Given the description of an element on the screen output the (x, y) to click on. 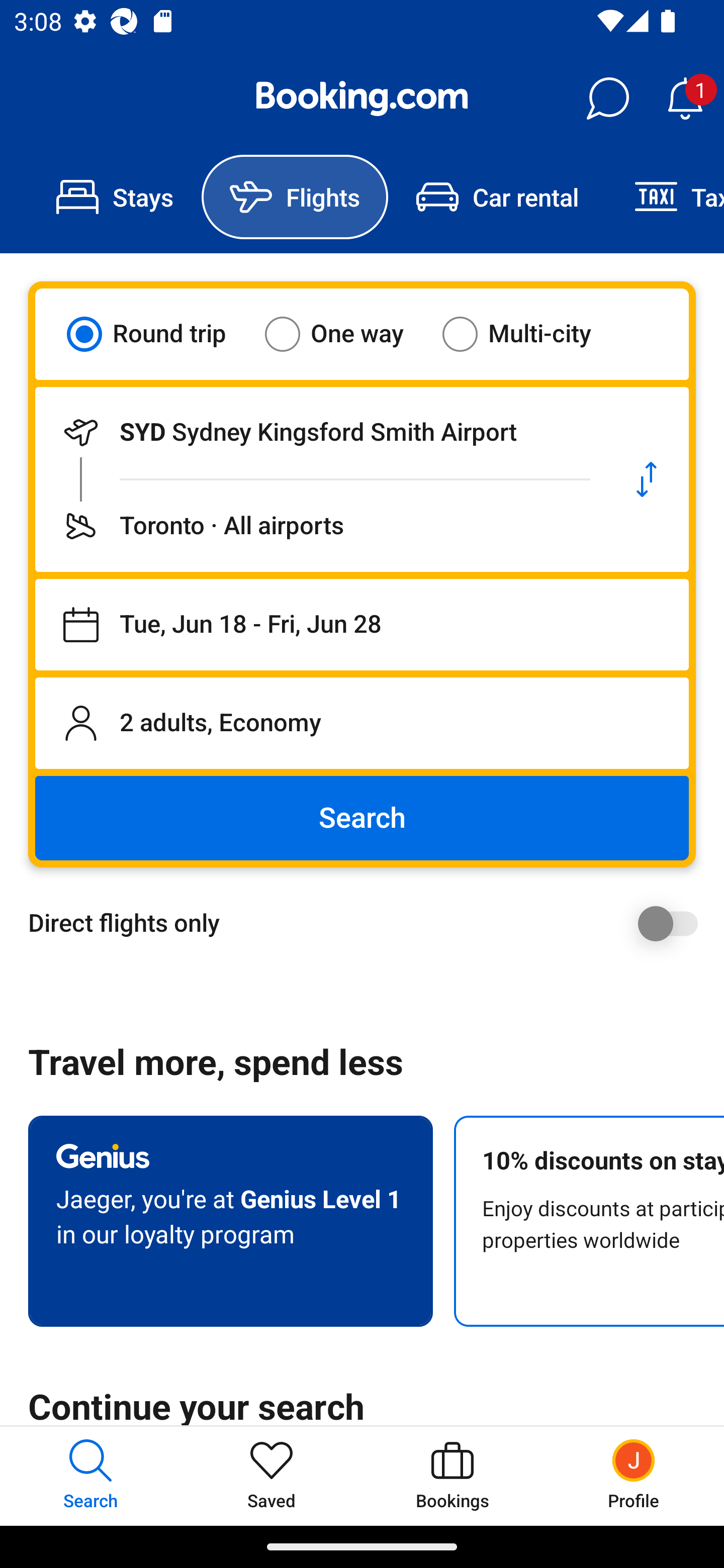
Messages (607, 98)
Notifications (685, 98)
Stays (114, 197)
Flights (294, 197)
Car rental (497, 197)
Taxi (665, 197)
One way (346, 333)
Multi-city (528, 333)
Departing from SYD Sydney Kingsford Smith Airport (319, 432)
Swap departure location and destination (646, 479)
Flying to Toronto · All airports (319, 525)
Departing on Tue, Jun 18, returning on Fri, Jun 28 (361, 624)
2 adults, Economy (361, 722)
Search (361, 818)
Direct flights only (369, 923)
Saved (271, 1475)
Bookings (452, 1475)
Profile (633, 1475)
